Given the description of an element on the screen output the (x, y) to click on. 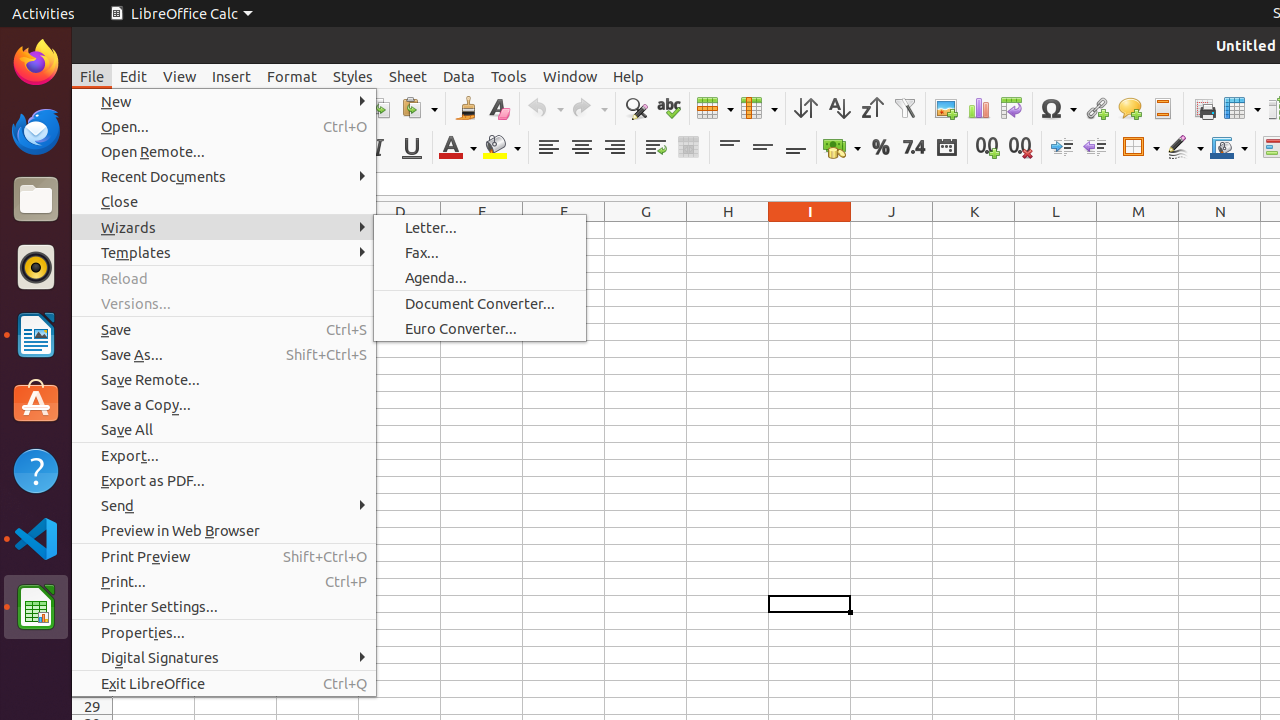
Background Color Element type: push-button (502, 147)
Sheet Element type: menu (408, 76)
Sort Descending Element type: push-button (871, 108)
